Given the description of an element on the screen output the (x, y) to click on. 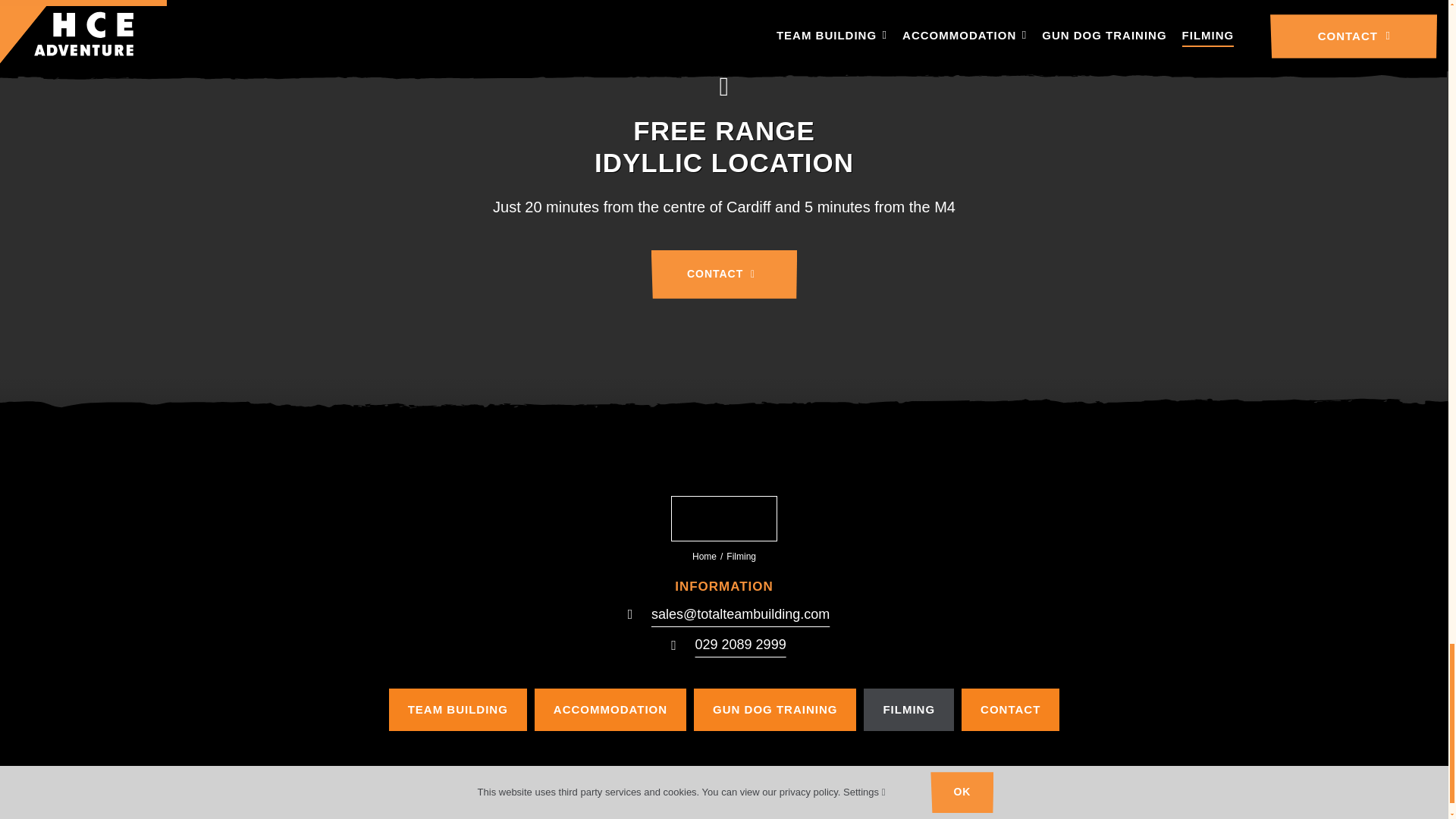
CONTACT (1009, 709)
CONTACT (723, 274)
Home (704, 556)
TEAM BUILDING (457, 709)
GUN DOG TRAINING (775, 709)
FILMING (908, 709)
ACCOMMODATION (609, 709)
029 2089 2999 (740, 644)
Contact us online (723, 274)
